Given the description of an element on the screen output the (x, y) to click on. 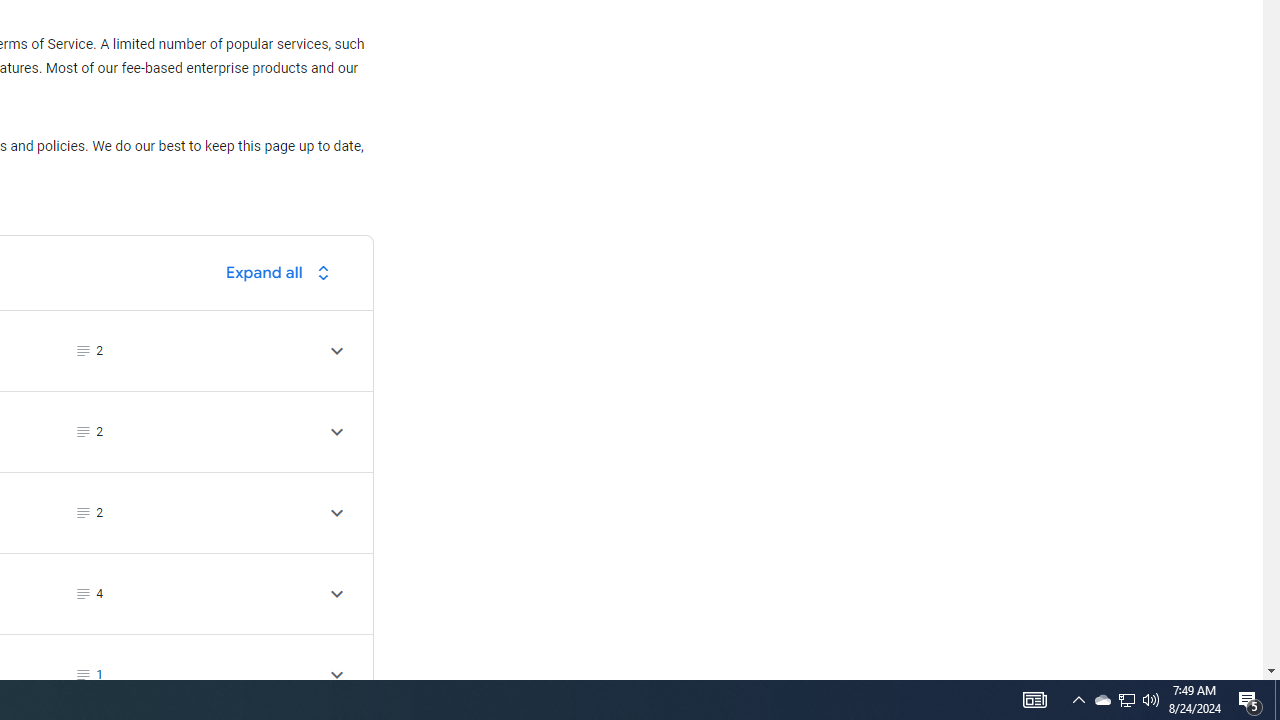
Expand all (283, 272)
